Given the description of an element on the screen output the (x, y) to click on. 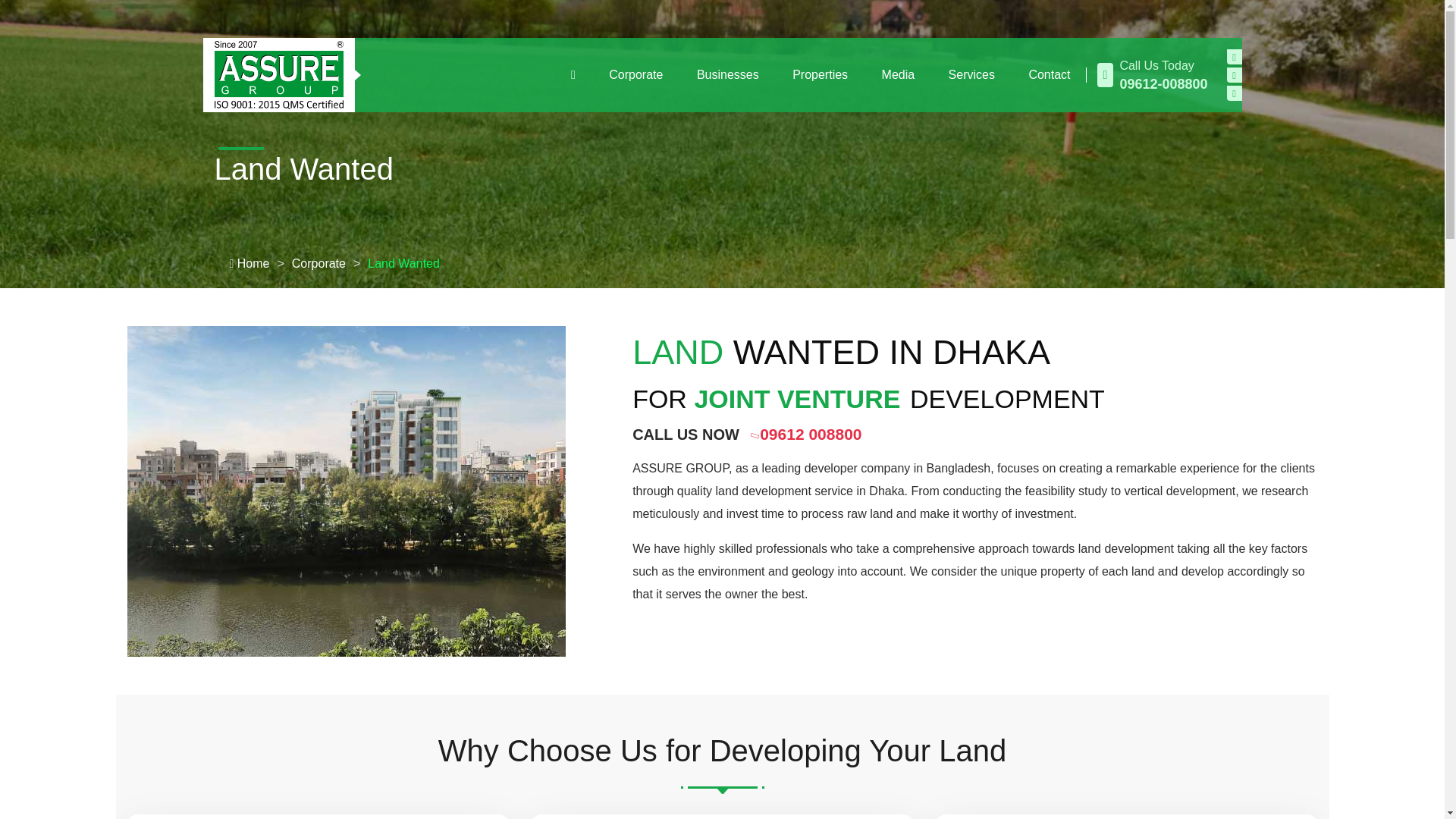
Visit our linkedin page (1234, 92)
Media (898, 75)
Corporate (636, 75)
Visit our youtube page (1234, 74)
Visit our facebook page (1234, 56)
Businesses (727, 75)
Properties (820, 75)
